Given the description of an element on the screen output the (x, y) to click on. 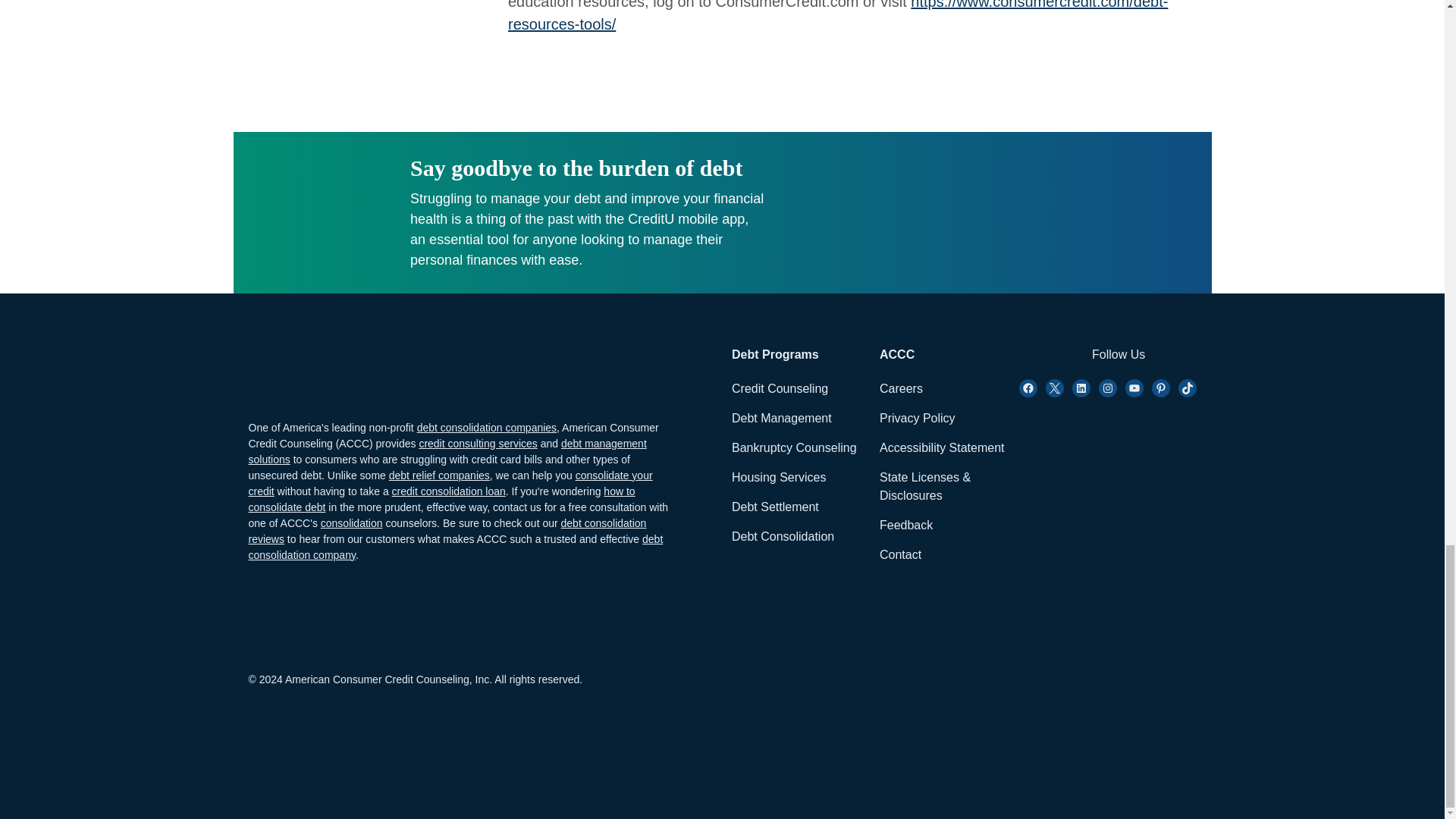
pinterest (1160, 388)
tiktok (1186, 388)
facebook (1027, 388)
instagram (1080, 388)
youtube (1133, 388)
twitter (1053, 388)
instagram (1106, 388)
